Given the description of an element on the screen output the (x, y) to click on. 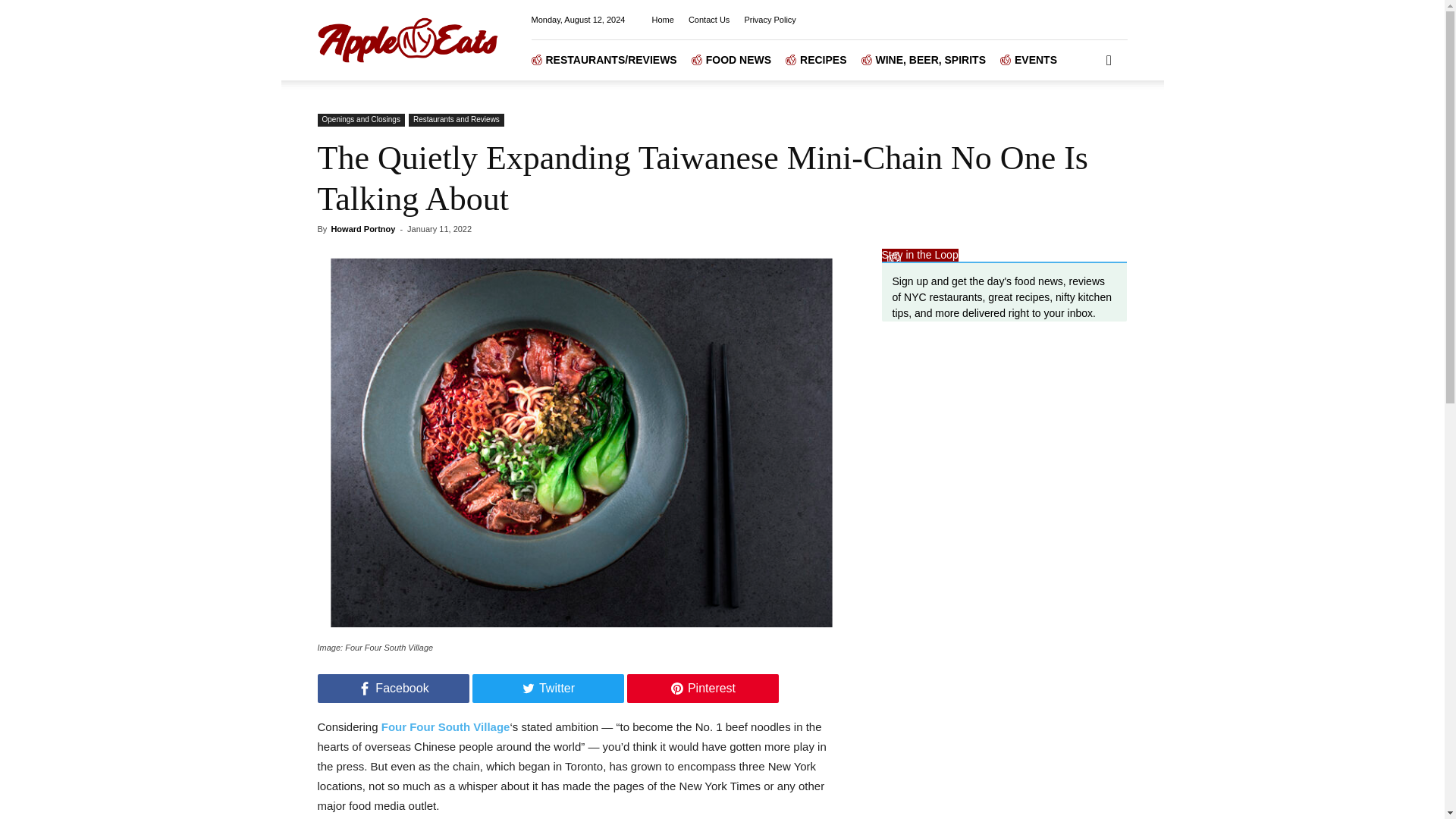
WINE, BEER, SPIRITS (929, 60)
Home (663, 19)
Four Four South Village (446, 726)
Twitter (547, 688)
EVENTS (1035, 60)
Restaurants and Reviews (456, 119)
Facebook (392, 688)
FOOD NEWS (738, 60)
Apple Eats: New York City NYC Food News (407, 40)
